Given the description of an element on the screen output the (x, y) to click on. 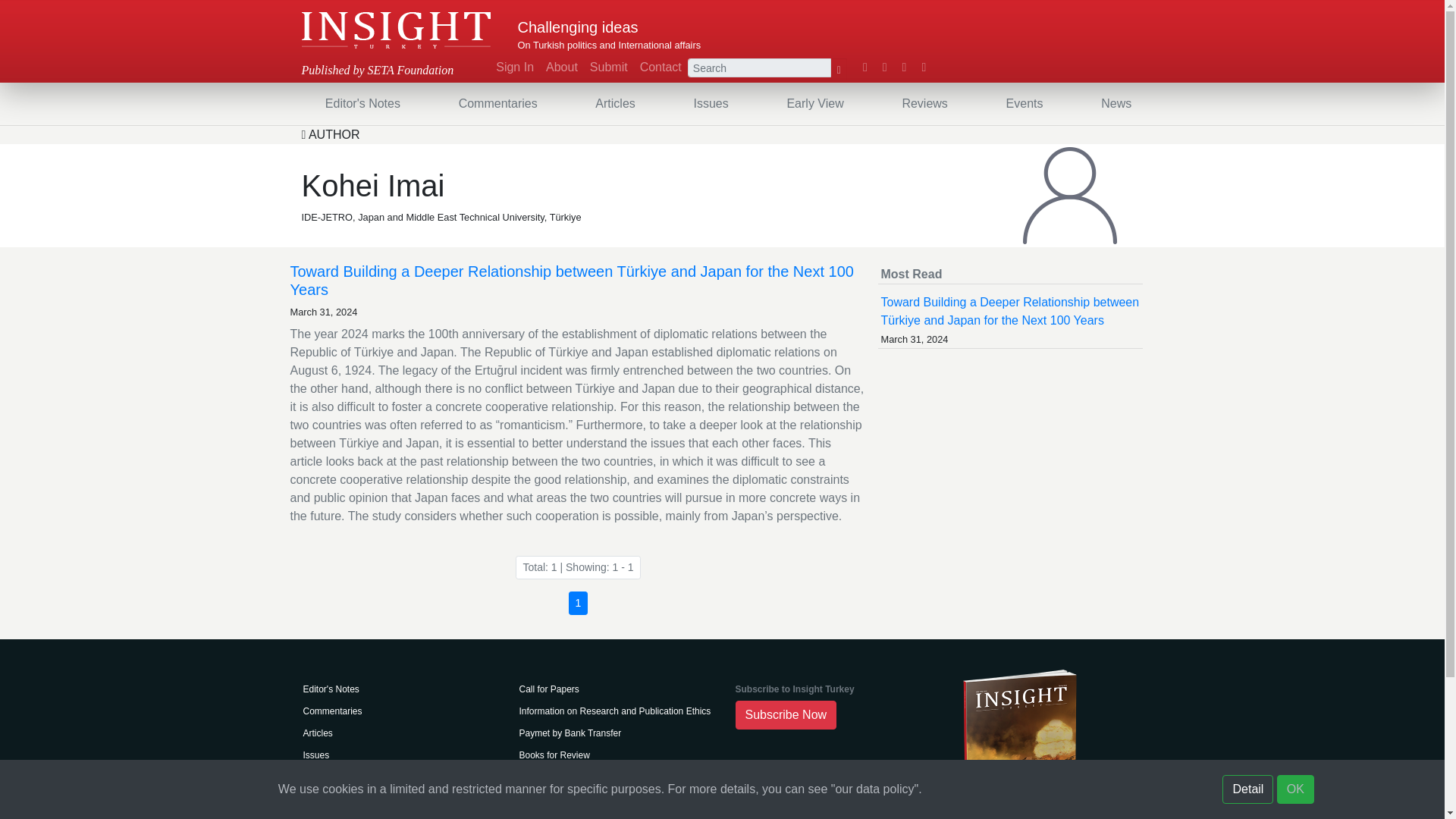
Submit (608, 67)
Contact (660, 67)
Sign In (514, 67)
Insight Turkey (396, 30)
Editor's Notes (362, 103)
About (561, 67)
Issues (710, 103)
Early View (814, 103)
Articles (614, 103)
Commentaries (497, 103)
Insight Turkey (396, 29)
About (561, 67)
Reviews (924, 103)
Submit (608, 67)
